Given the description of an element on the screen output the (x, y) to click on. 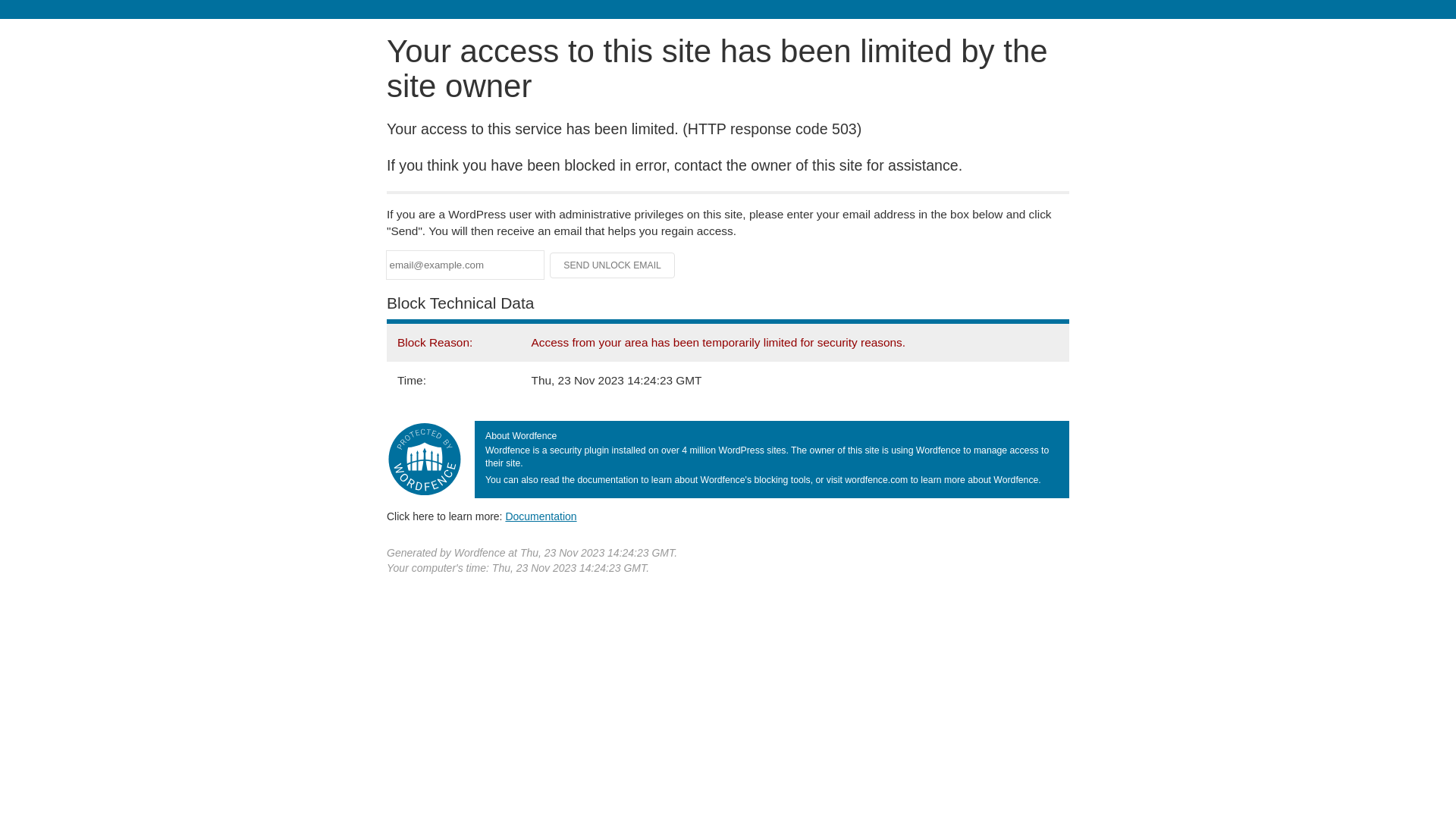
Send Unlock Email Element type: text (612, 265)
Documentation Element type: text (540, 516)
